Given the description of an element on the screen output the (x, y) to click on. 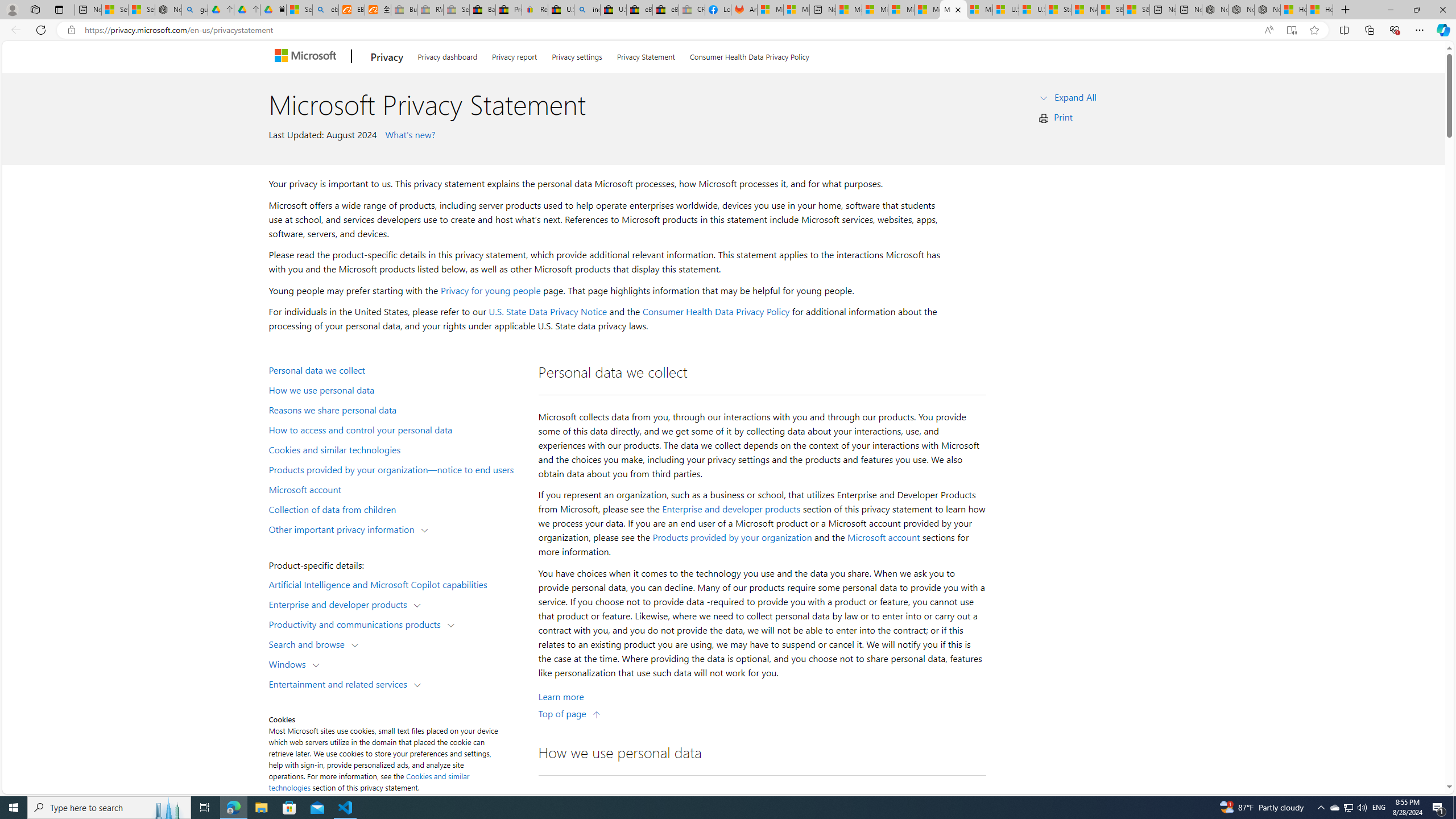
 What's new? (408, 133)
Reasons we share personal data (395, 409)
Privacy settings (577, 54)
Sell worldwide with eBay - Sleeping (456, 9)
Entertainment and related services (340, 683)
Baby Keepsakes & Announcements for sale | eBay (482, 9)
Search and browse (308, 643)
Learn More about Personal data we collect (560, 696)
Personal data we collect (395, 368)
App bar (728, 29)
Workspaces (34, 9)
Cookies and similar technologies (368, 780)
Cookies and similar technologies (395, 449)
Refresh (40, 29)
